Given the description of an element on the screen output the (x, y) to click on. 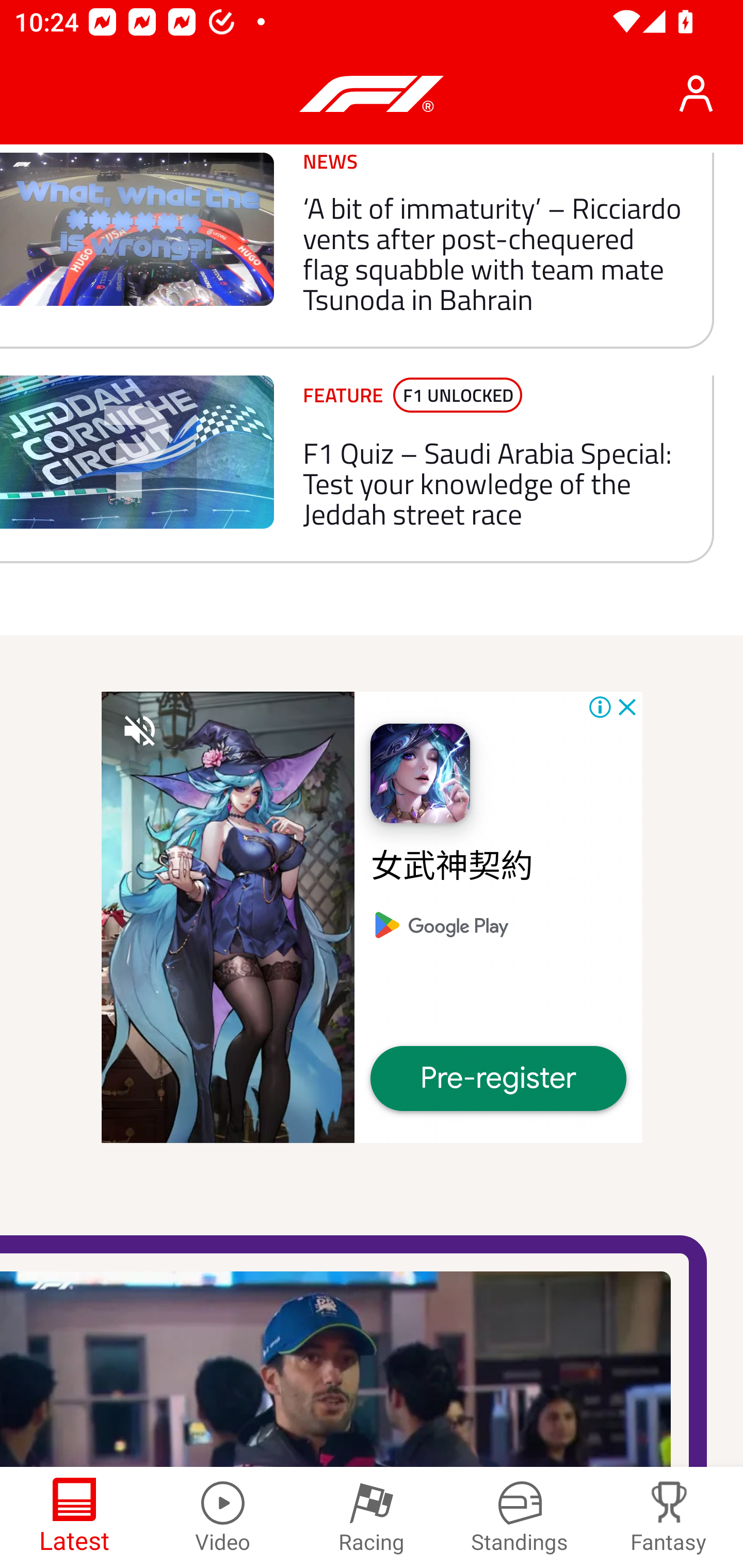
Pre-register (498, 1078)
Video (222, 1517)
Racing (371, 1517)
Standings (519, 1517)
Fantasy (668, 1517)
